Given the description of an element on the screen output the (x, y) to click on. 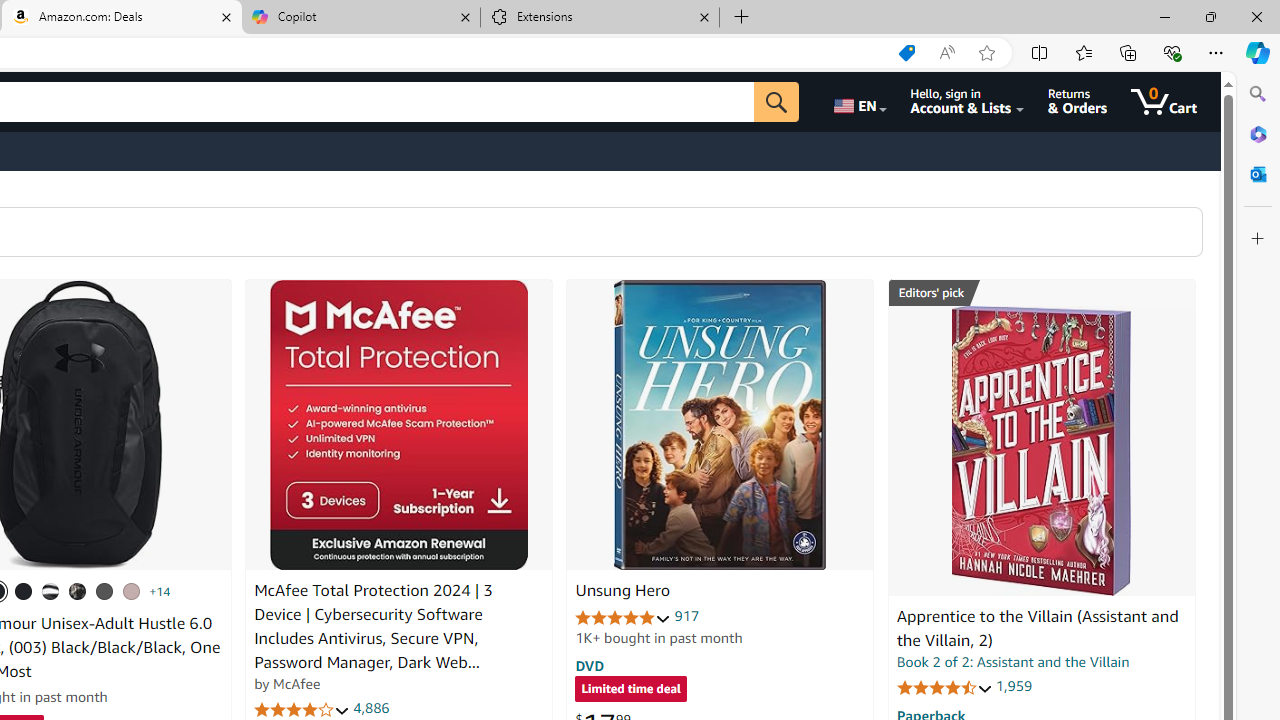
DVD (589, 665)
Book 2 of 2: Assistant and the Villain (1013, 662)
(001) Black / Black / Metallic Gold (24, 591)
+14 (159, 591)
4.1 out of 5 stars (301, 709)
(015) Tetra Gray / Tetra Gray / Gray Matter (131, 591)
Hello, sign in Account & Lists (967, 101)
Apprentice to the Villain (Assistant and the Villain, 2) (1037, 628)
Extensions (600, 17)
Editors' pick Best Science Fiction & Fantasy (1041, 293)
